Given the description of an element on the screen output the (x, y) to click on. 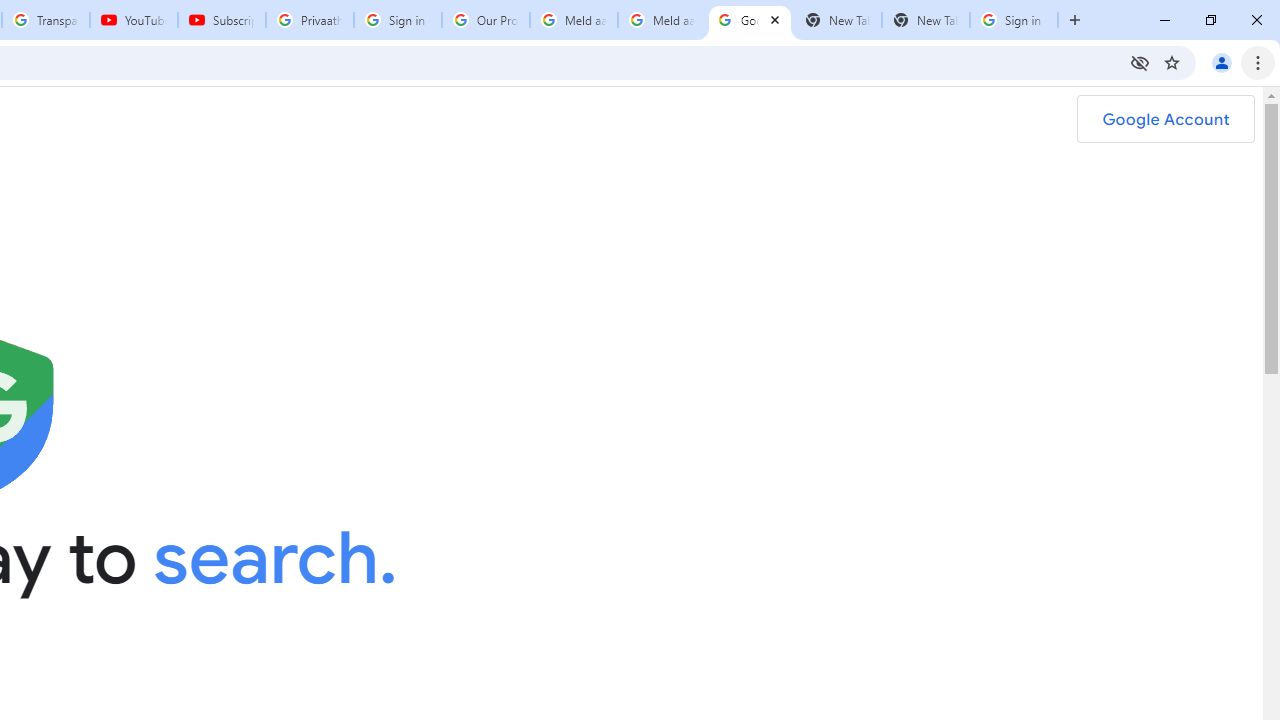
Sign in - Google Accounts (1014, 20)
